Given the description of an element on the screen output the (x, y) to click on. 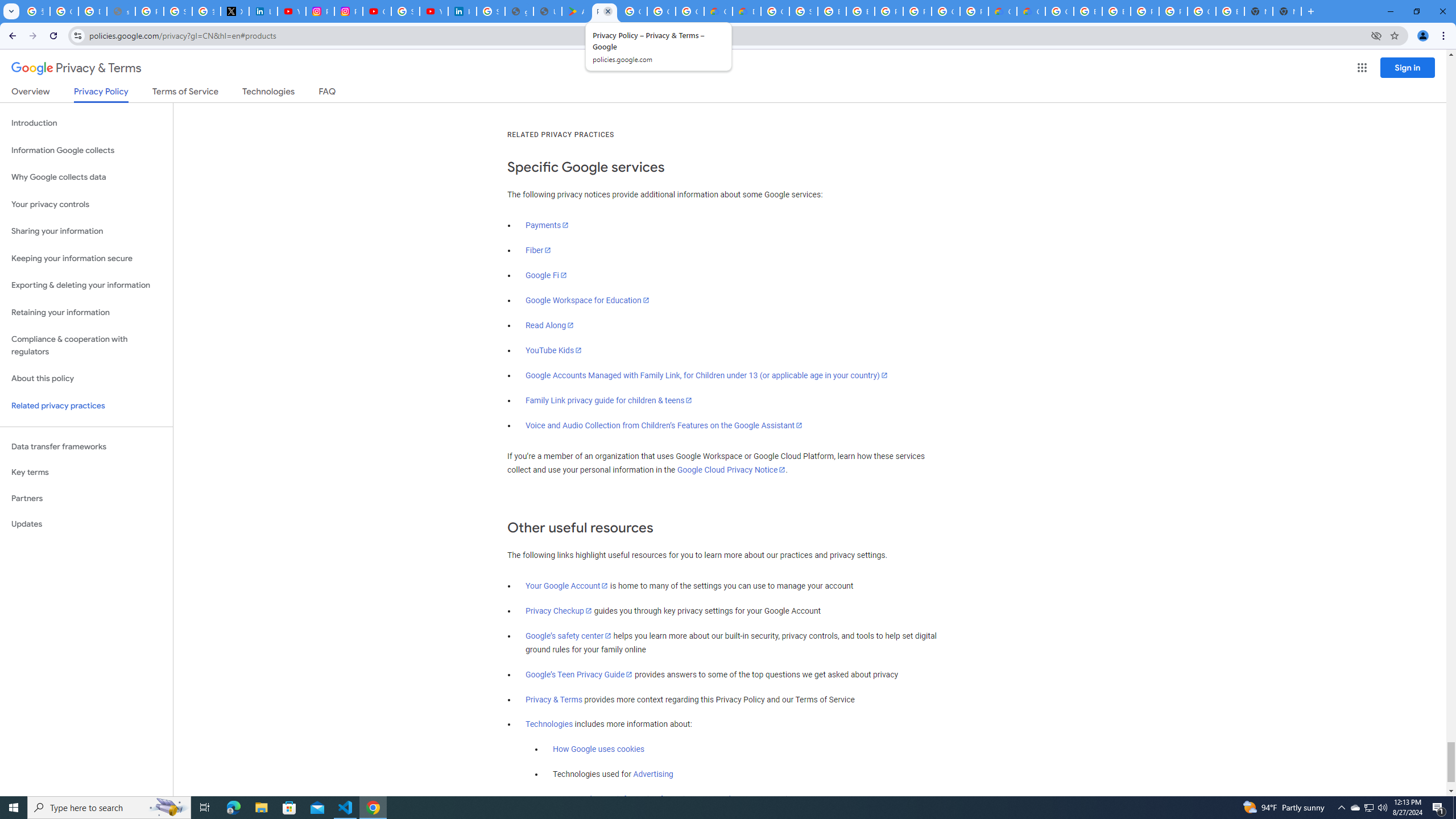
Exporting & deleting your information (86, 284)
Sign in - Google Accounts (803, 11)
LinkedIn Privacy Policy (263, 11)
Privacy & Terms (553, 699)
Payments (547, 225)
Advertising (652, 774)
Fiber (538, 249)
Related privacy practices (86, 405)
Google Cloud Platform (1201, 11)
Customer Care | Google Cloud (1002, 11)
Partners (86, 497)
